Given the description of an element on the screen output the (x, y) to click on. 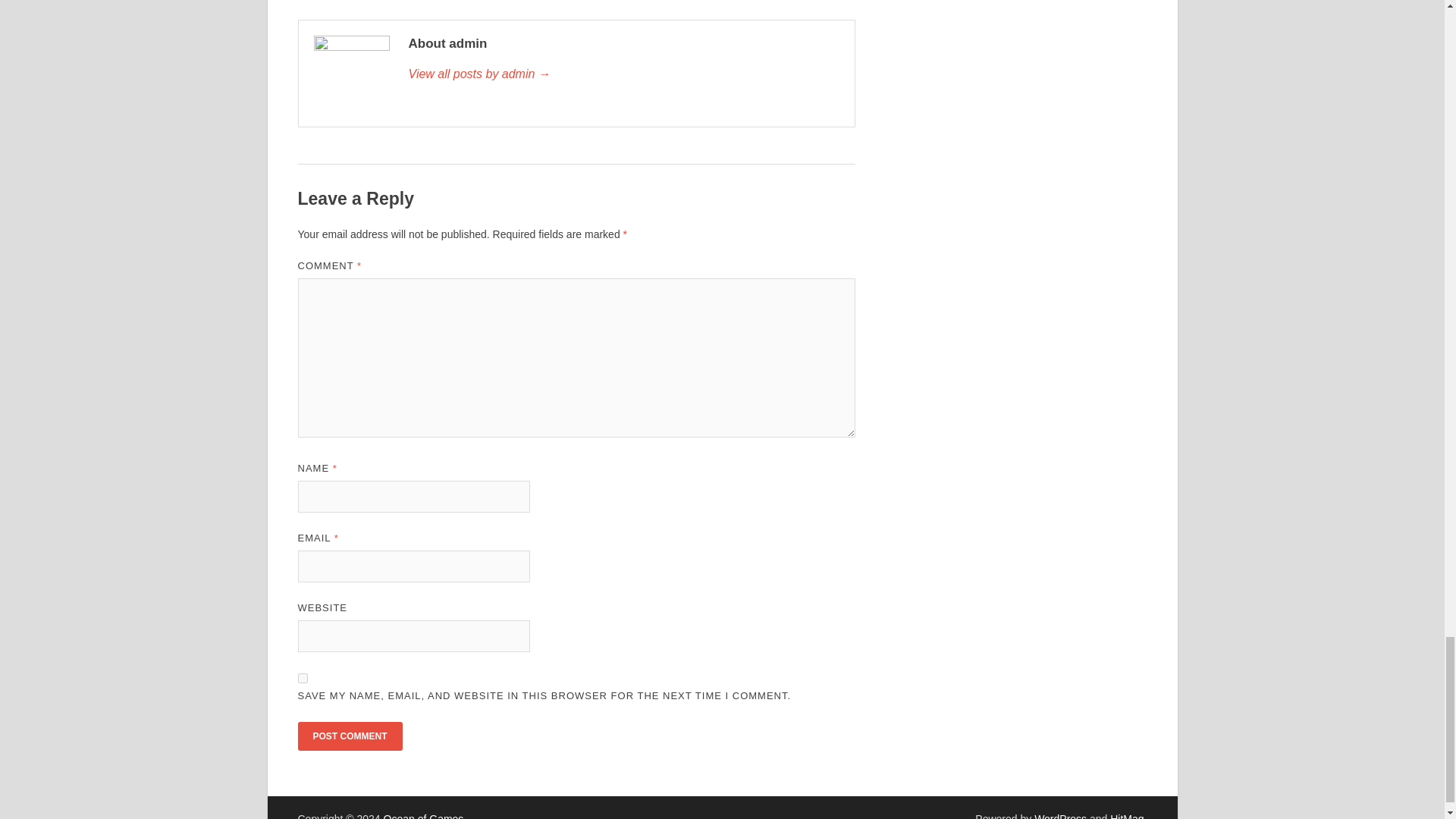
Post Comment (349, 736)
admin (622, 74)
yes (302, 678)
